Given the description of an element on the screen output the (x, y) to click on. 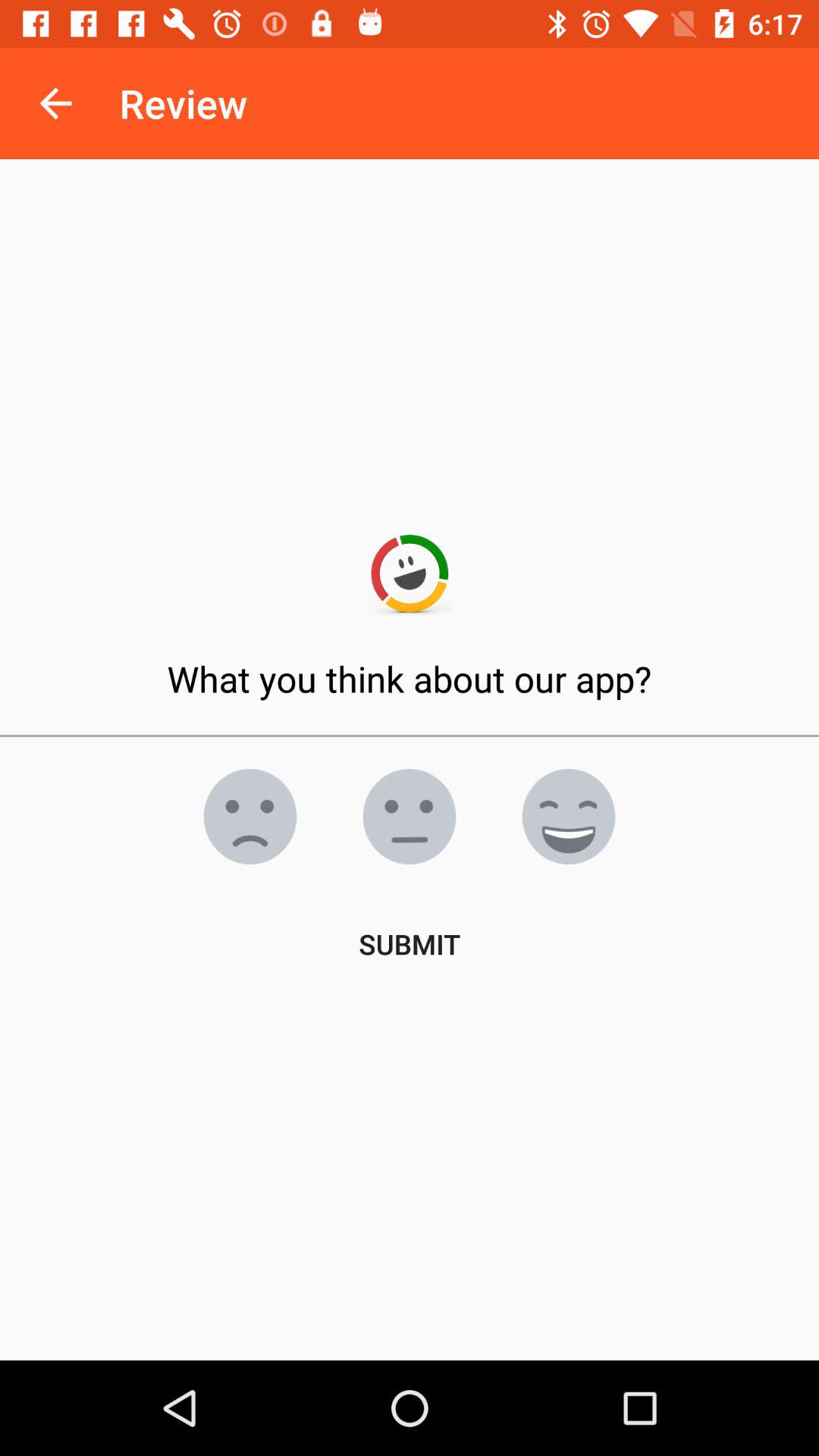
emoji (249, 816)
